Given the description of an element on the screen output the (x, y) to click on. 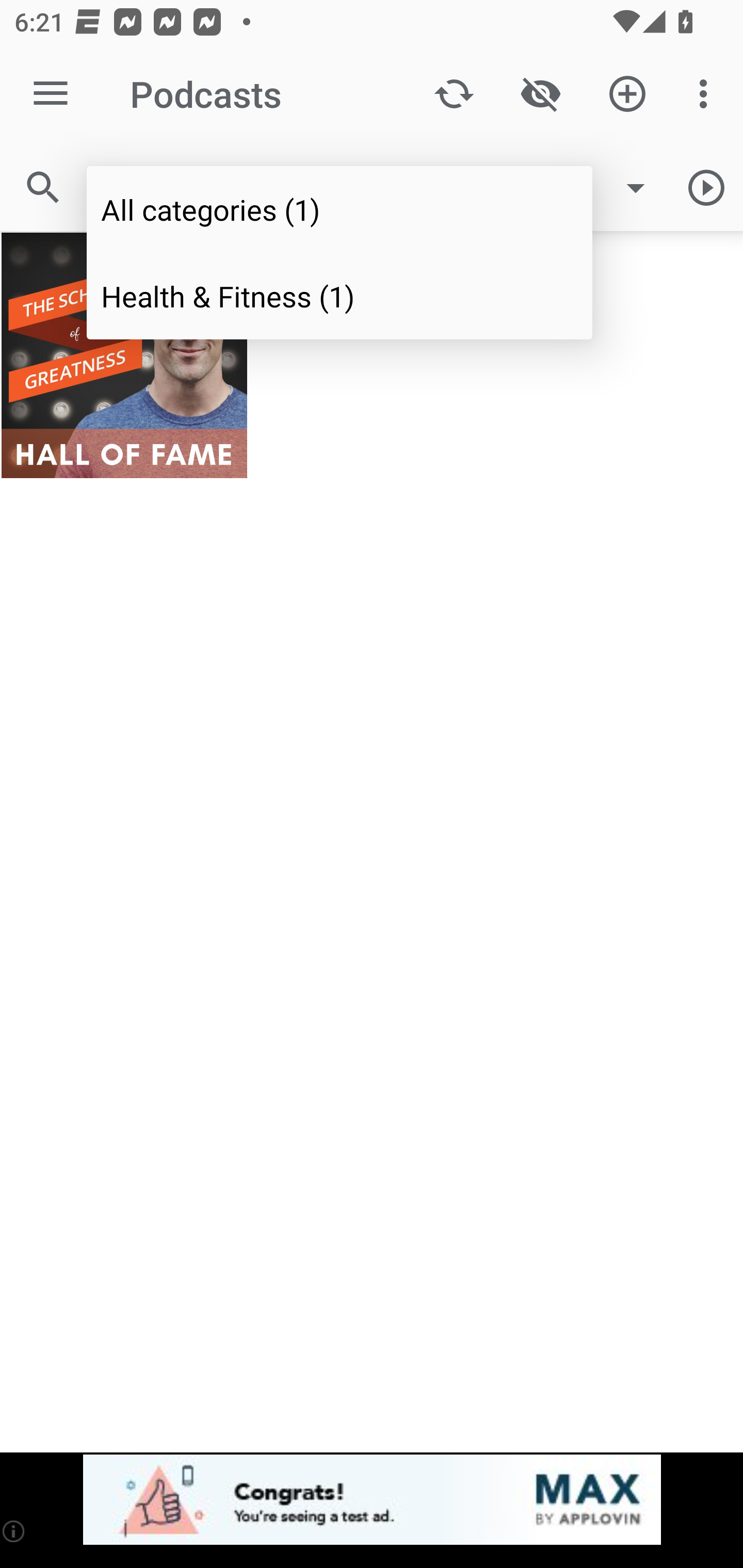
All categories (1) (339, 209)
Health & Fitness (1) (339, 295)
